Given the description of an element on the screen output the (x, y) to click on. 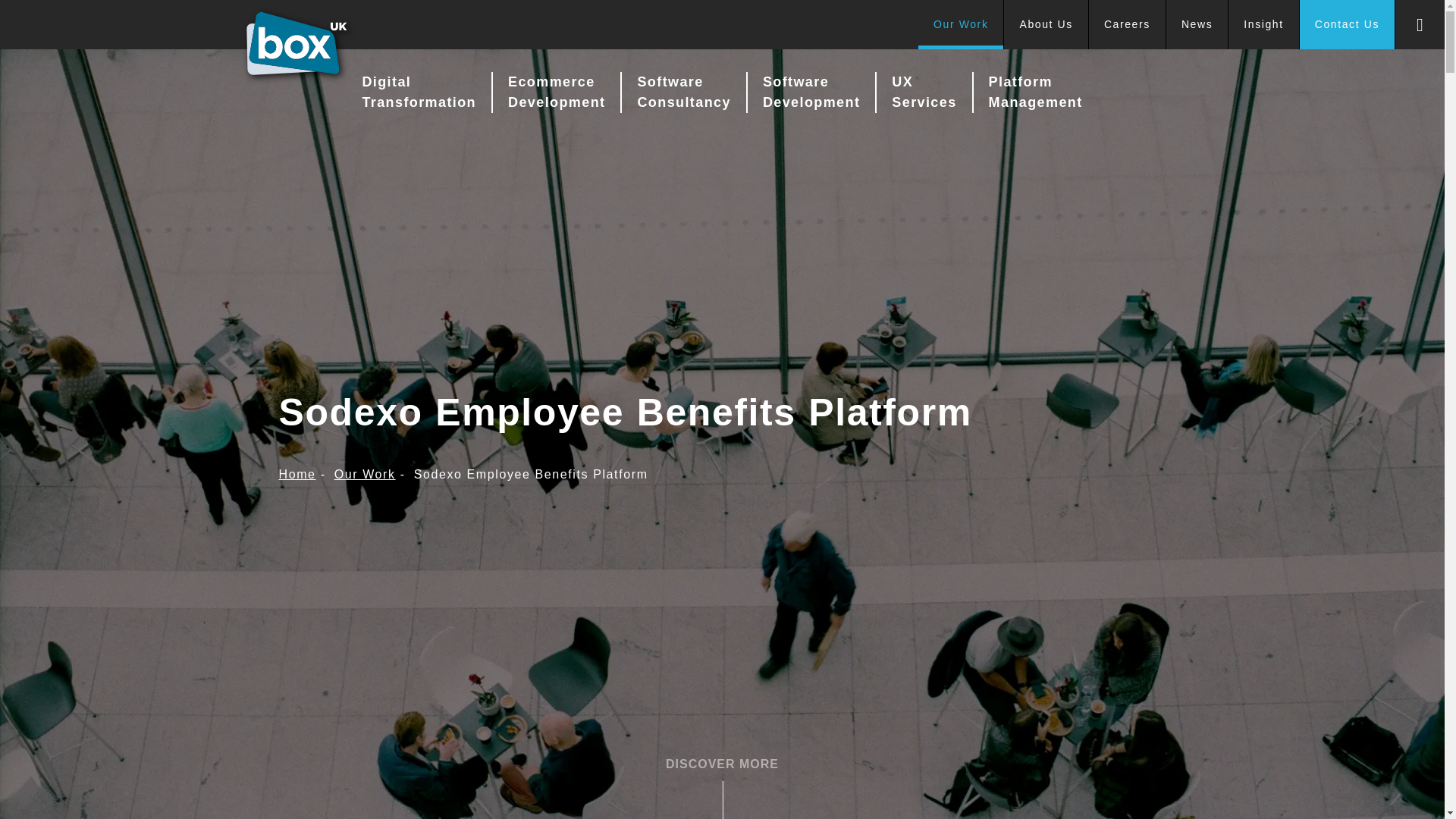
DISCOVER MORE (721, 764)
About Us (1045, 24)
Our Work (961, 24)
Careers (1127, 24)
Contact Us (1347, 24)
News (1197, 24)
Insight (1263, 24)
